Given the description of an element on the screen output the (x, y) to click on. 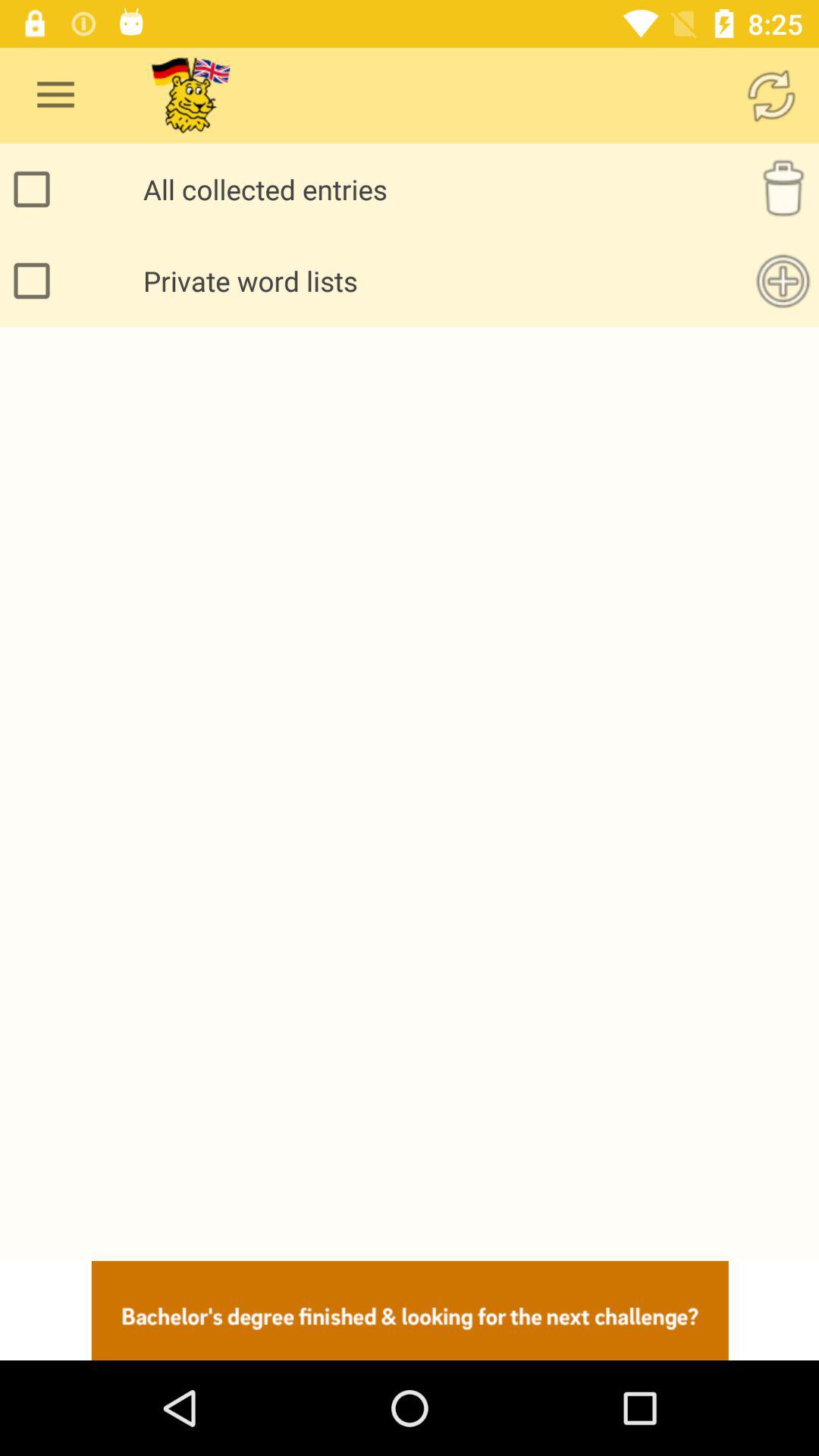
add banner (409, 1310)
